Given the description of an element on the screen output the (x, y) to click on. 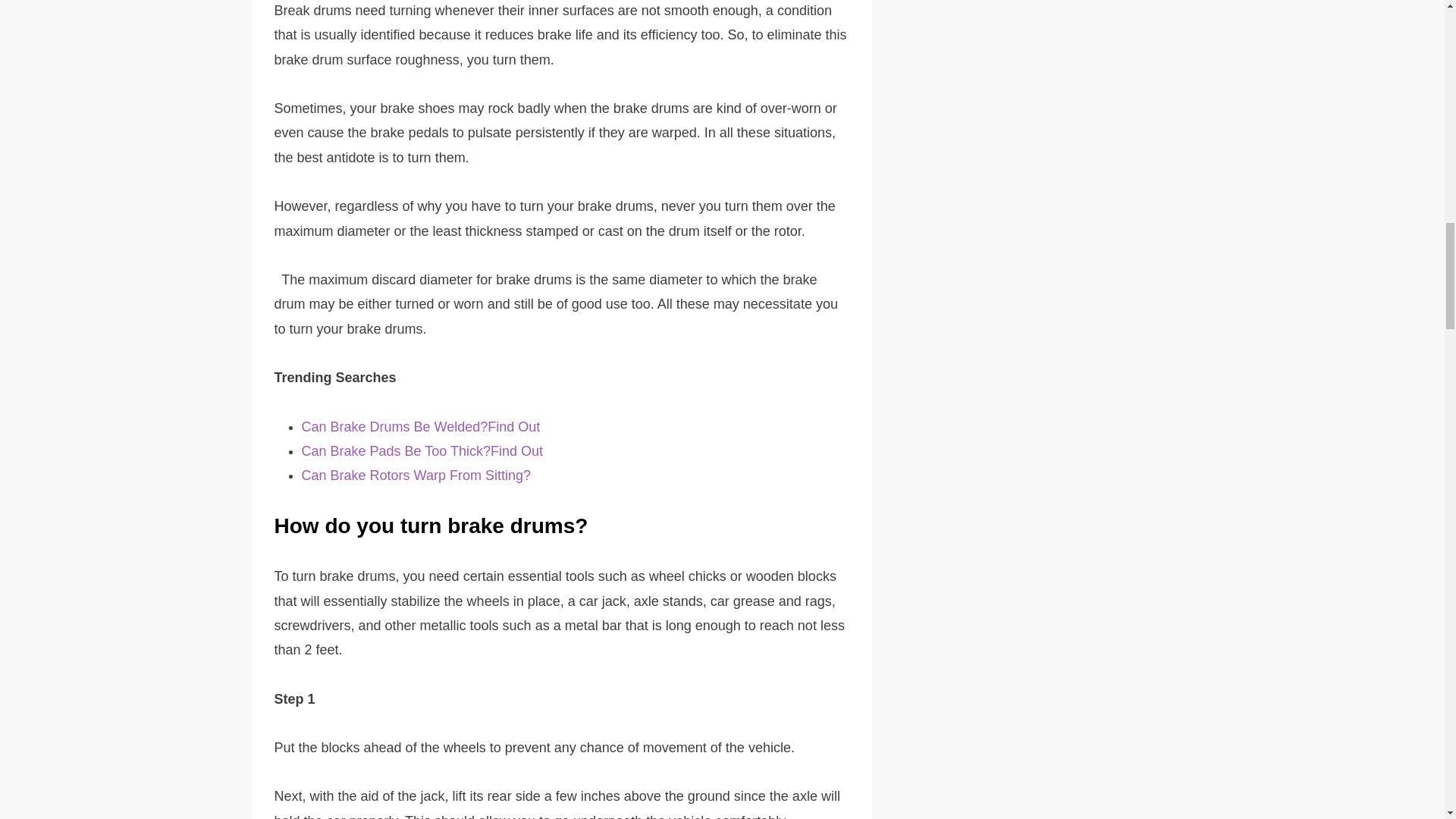
Can Brake Pads Be Too Thick?Find Out (422, 450)
Can Brake Rotors Warp From Sitting? (416, 475)
Can Brake Drums Be Welded?Find Out (420, 426)
